Given the description of an element on the screen output the (x, y) to click on. 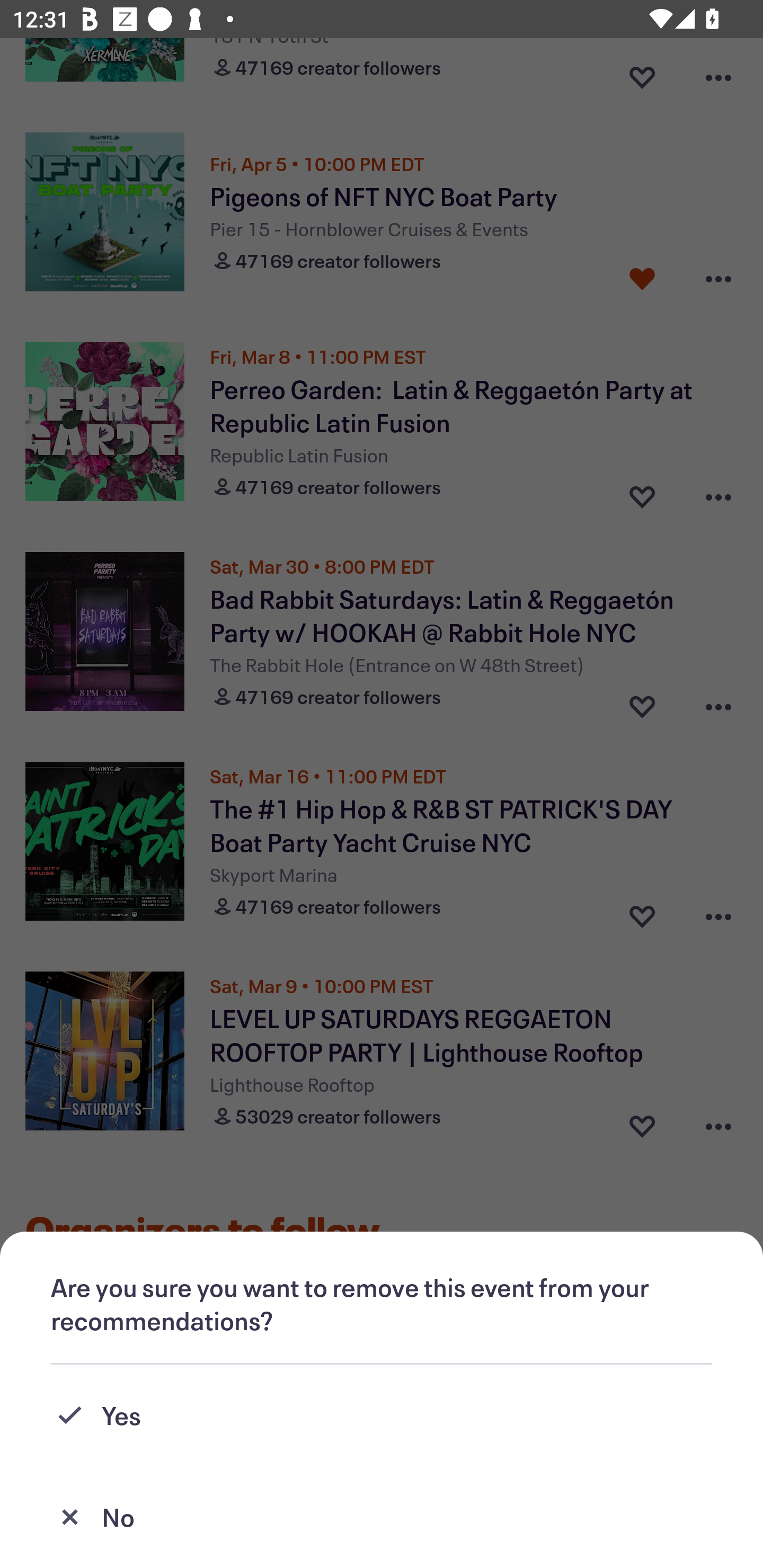
Yes (381, 1415)
No (381, 1517)
